Given the description of an element on the screen output the (x, y) to click on. 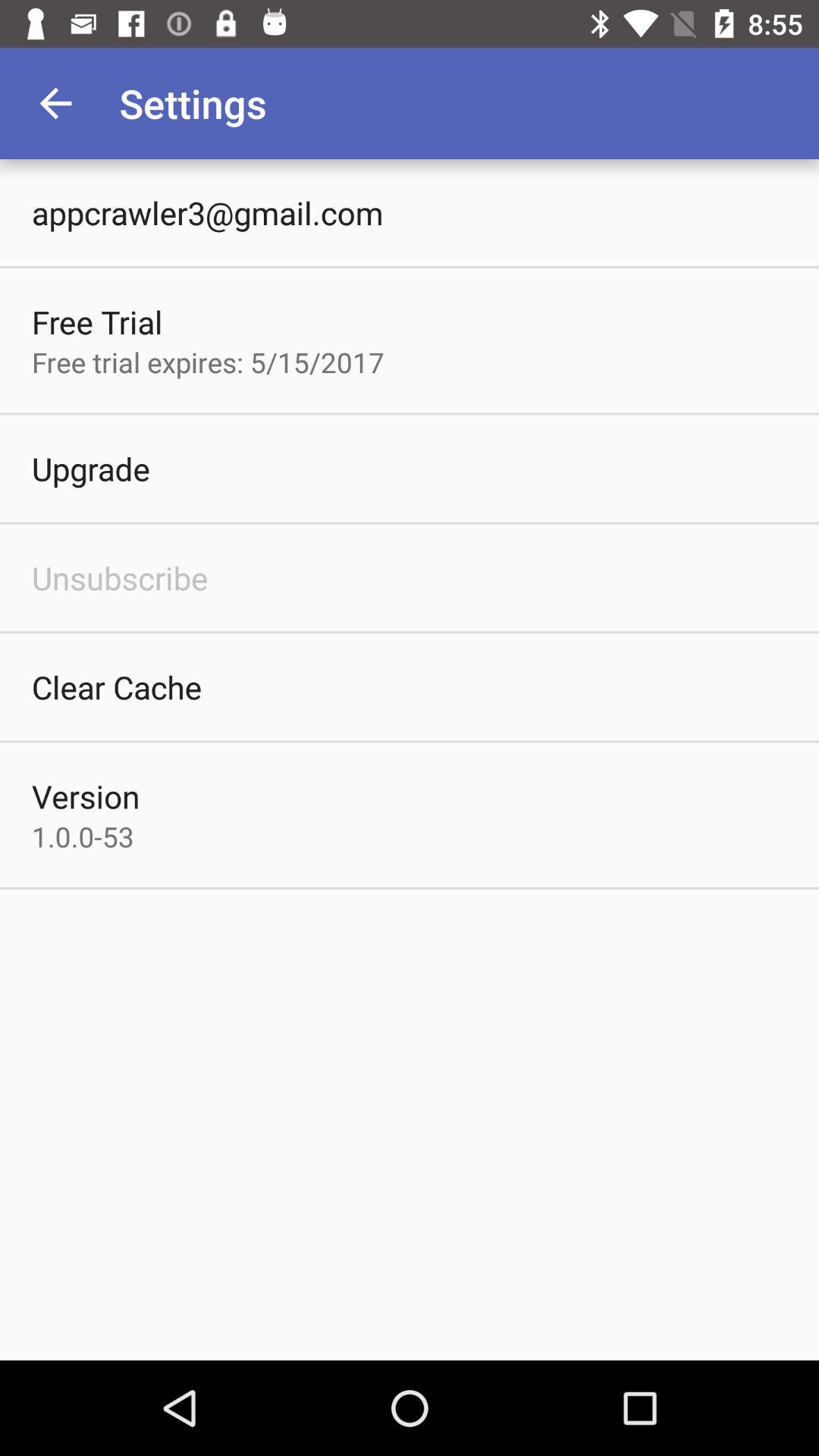
press app next to settings item (55, 103)
